Given the description of an element on the screen output the (x, y) to click on. 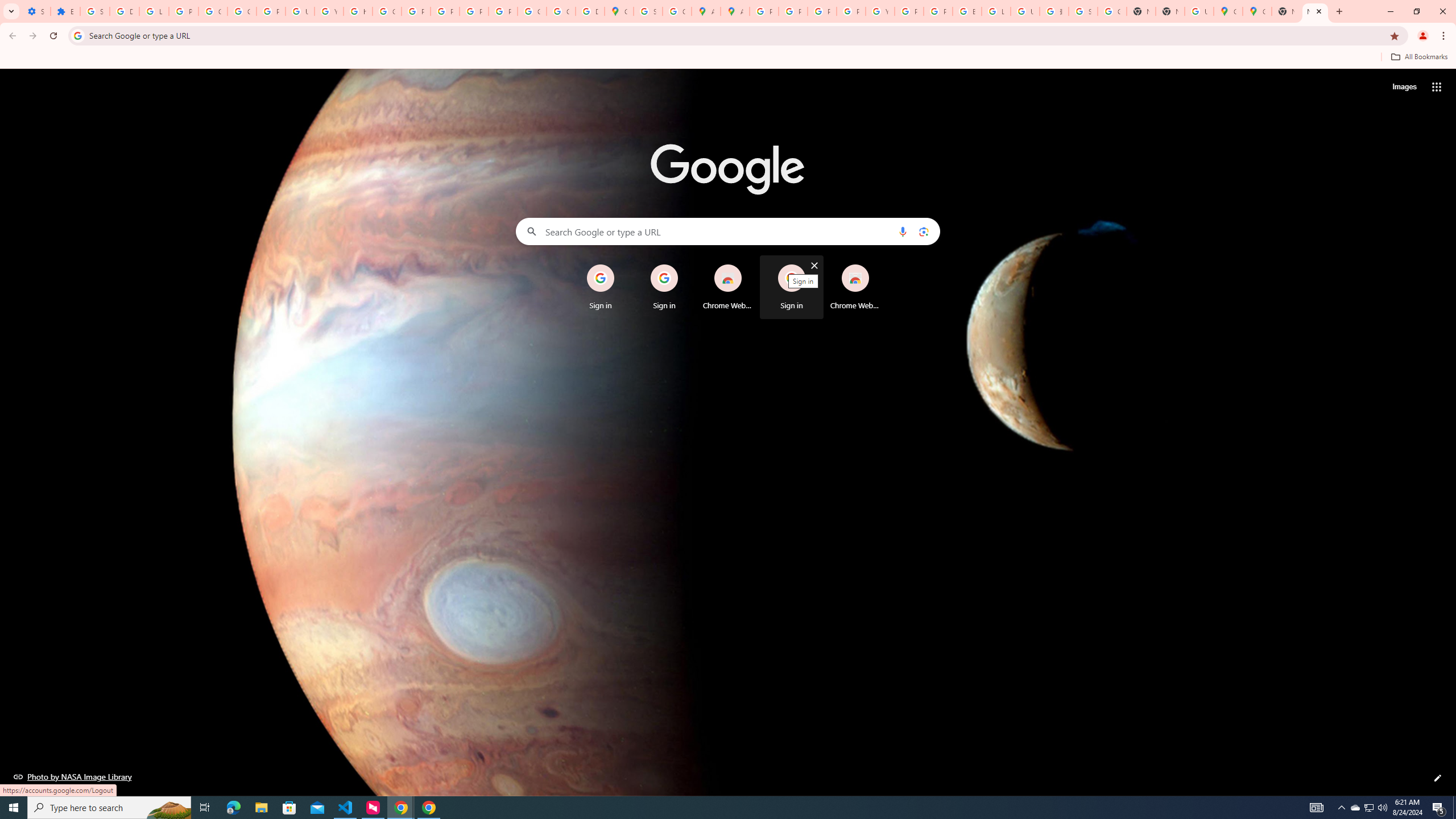
YouTube (879, 11)
YouTube (327, 11)
Google Maps (1256, 11)
